Given the description of an element on the screen output the (x, y) to click on. 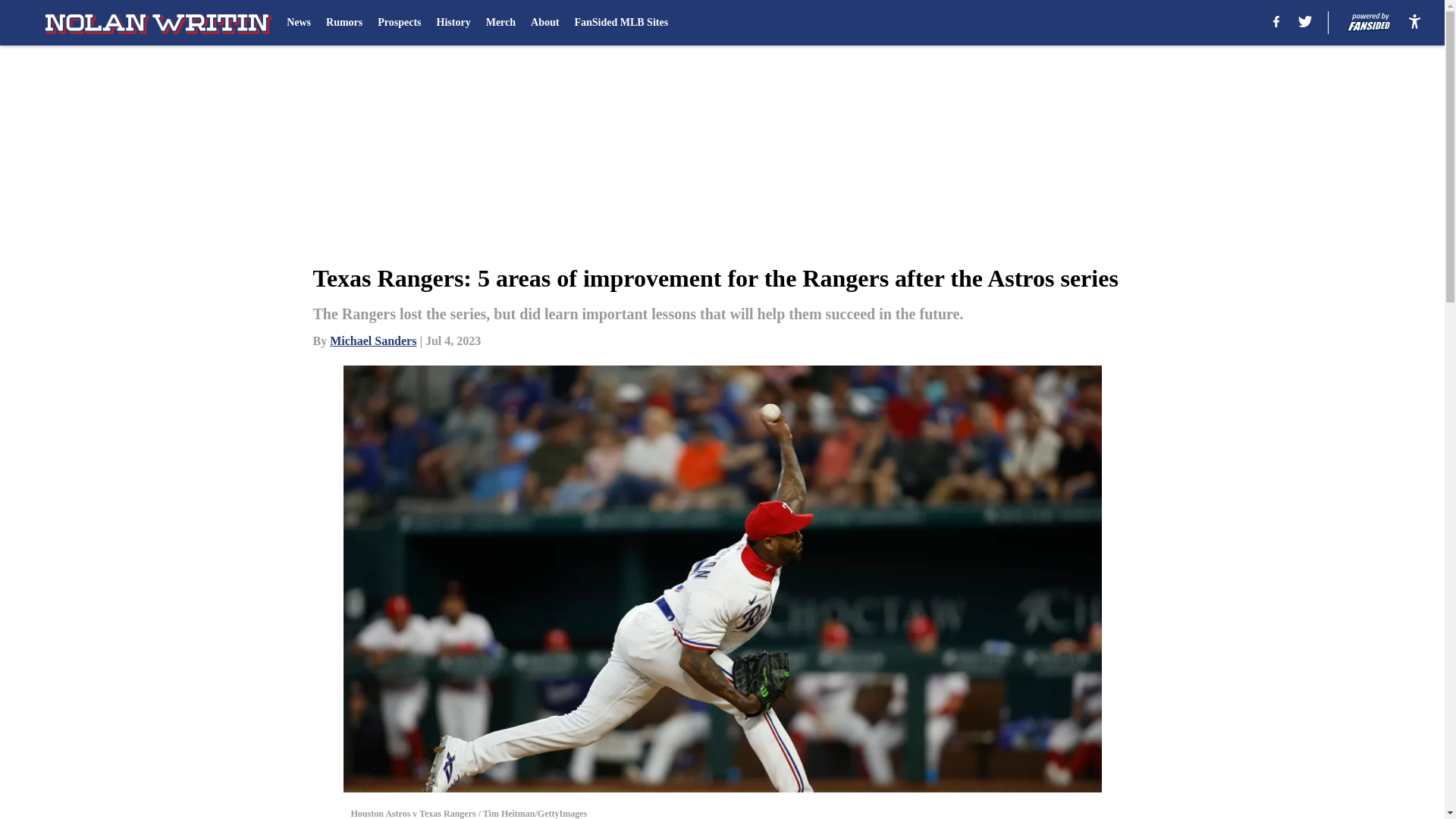
Rumors (344, 22)
About (545, 22)
Michael Sanders (373, 340)
History (453, 22)
FanSided MLB Sites (620, 22)
Merch (500, 22)
Prospects (398, 22)
News (298, 22)
